Given the description of an element on the screen output the (x, y) to click on. 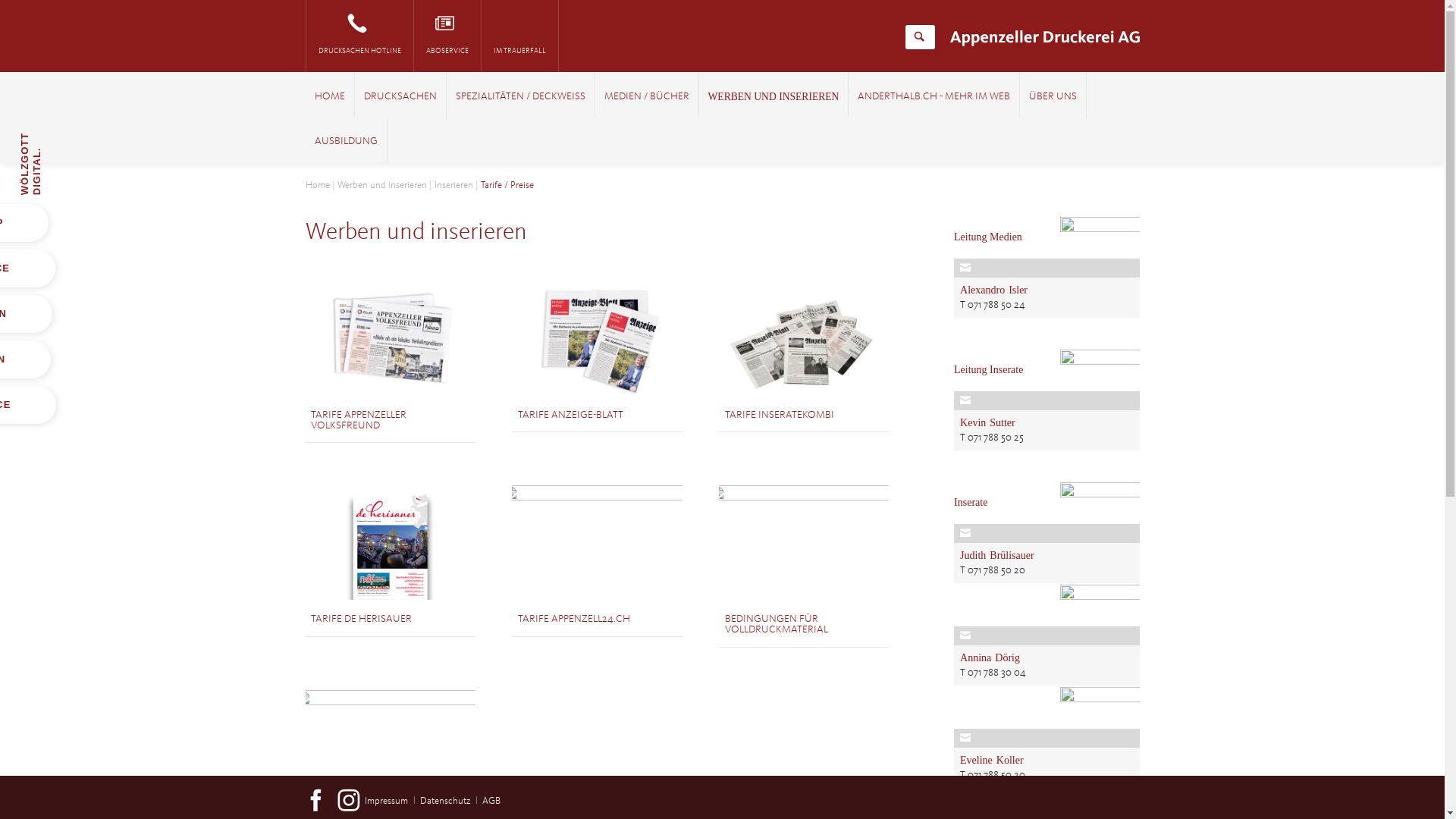
Inserieren Element type: text (452, 185)
ANDERTHALB.CH - MEHR IM WEB Element type: text (933, 96)
TARIFE INSERATEKOMBI Element type: text (779, 414)
Home Element type: text (316, 185)
Werben und Inserieren Element type: text (381, 185)
TARIFE DE HERISAUER Element type: text (360, 618)
IM TRAUERFALL Element type: text (518, 36)
AUSBILDUNG Element type: text (344, 141)
TARIFE APPENZELLER VOLKSFREUND Element type: text (358, 419)
Datenschutz Element type: text (445, 801)
WERBEN UND INSERIEREN Element type: text (773, 96)
  Element type: text (499, 793)
TARIFE APPENZELL24.CH Element type: text (573, 618)
Impressum Element type: text (385, 801)
ABOSERVICE Element type: text (447, 36)
TARIFE ANZEIGE-BLATT Element type: text (570, 414)
DRUCKSACHEN Element type: text (400, 96)
HOME Element type: text (328, 96)
DRUCKSACHEN HOTLINE Element type: text (359, 36)
Suchen Element type: text (919, 37)
AGB Element type: text (491, 801)
